Given the description of an element on the screen output the (x, y) to click on. 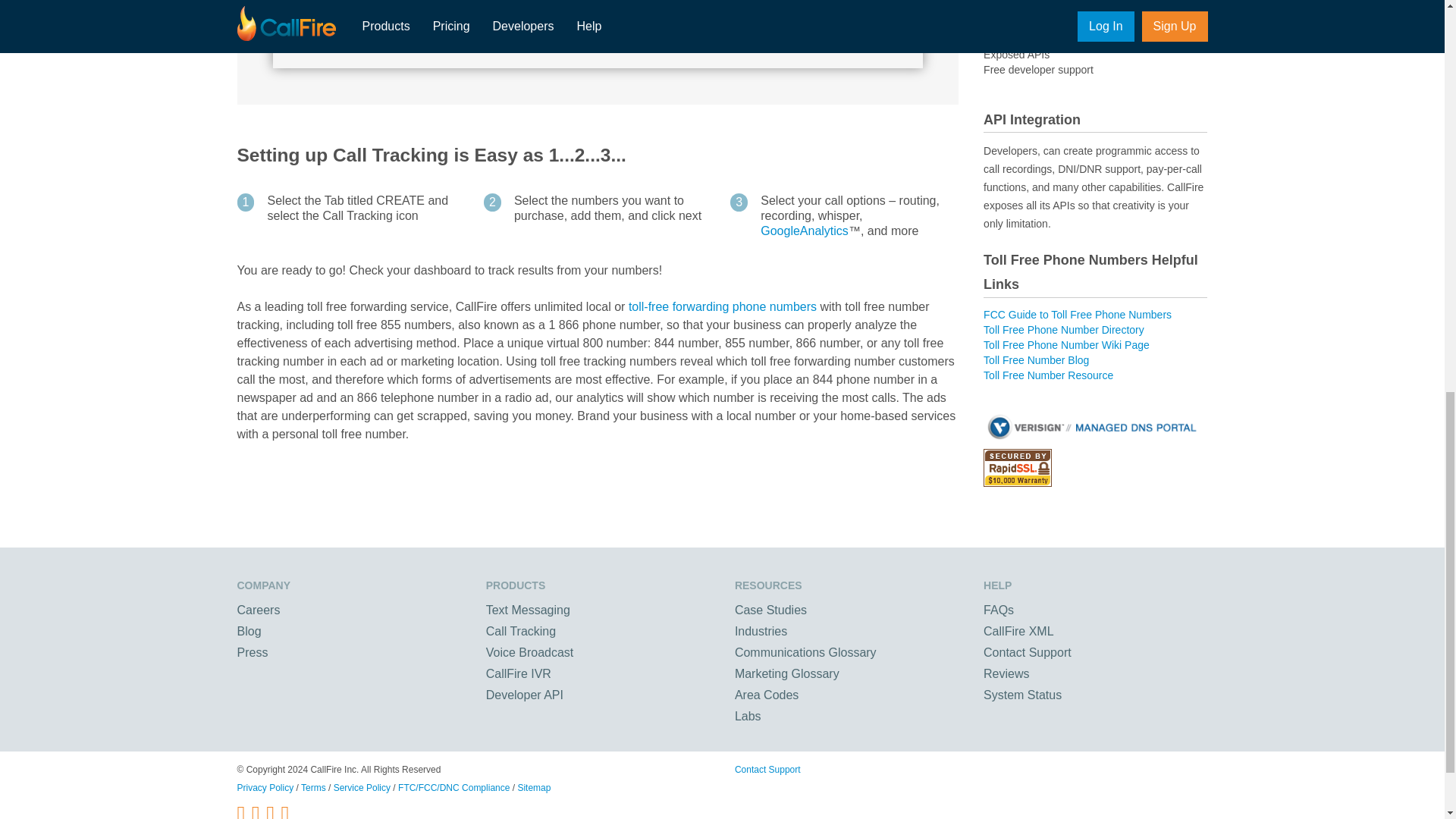
CallFire IVR (518, 673)
Case Studies (770, 609)
Toll Free Phone Number Wiki Page (1067, 345)
FCC Guide to Toll Free Phone Numbers (1078, 314)
Frequently Asked Questions (998, 609)
Toll Free Number Blog (1036, 359)
Area Codes (767, 694)
Industries (761, 631)
Developer API (524, 694)
Voice Broadcast (529, 652)
